Given the description of an element on the screen output the (x, y) to click on. 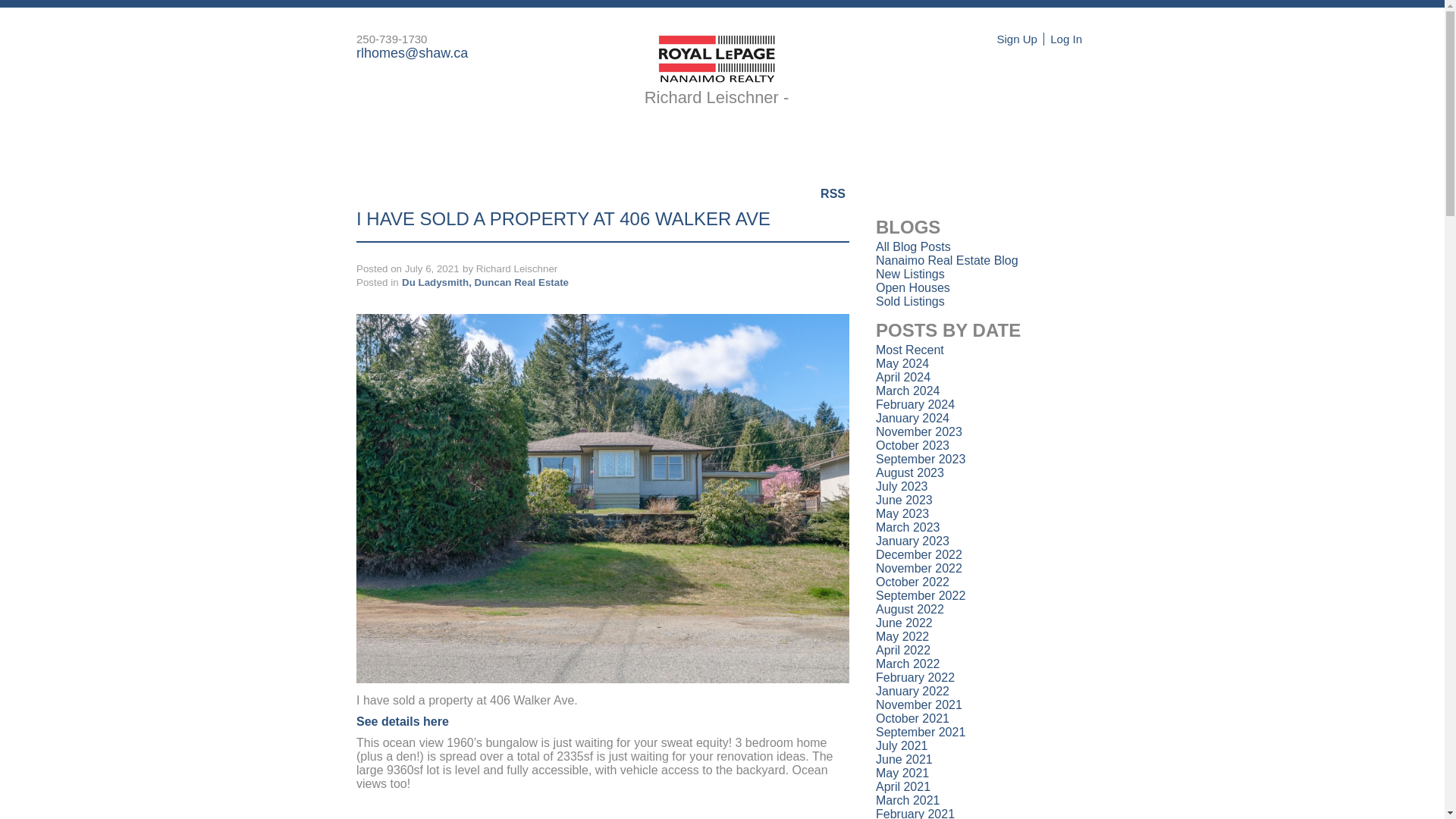
May 2024 (902, 363)
New Listings (910, 273)
August 2023 (909, 472)
Most Recent (909, 349)
October 2023 (912, 445)
March 2024 (908, 390)
September 2023 (920, 459)
April 2024 (903, 377)
Open Houses (913, 287)
January 2024 (912, 418)
Sold Listings (910, 300)
HOME (385, 147)
Log In (1065, 38)
All Blog Posts (913, 246)
Home (385, 147)
